Given the description of an element on the screen output the (x, y) to click on. 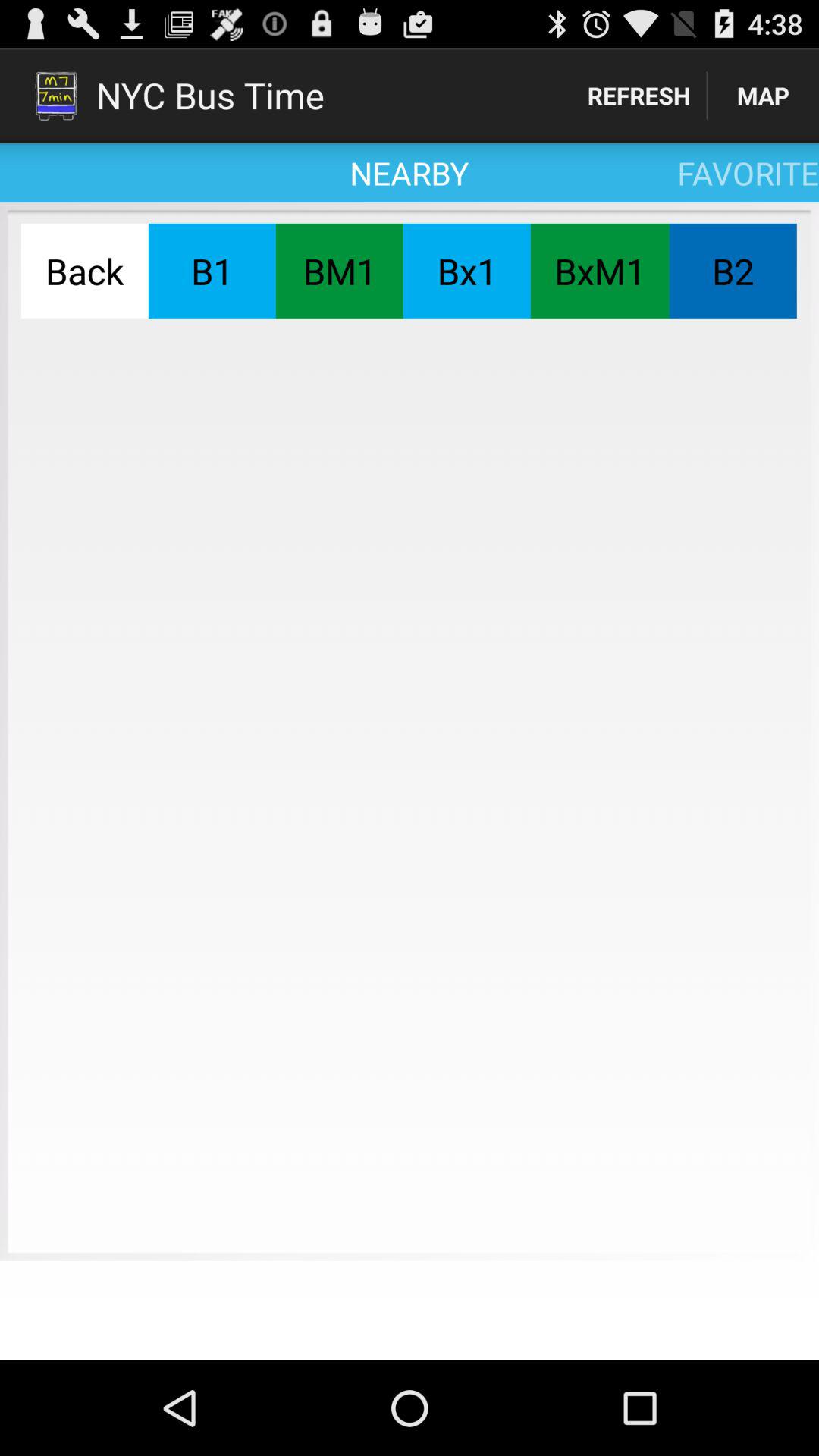
turn off item to the left of bxm1 icon (466, 271)
